Given the description of an element on the screen output the (x, y) to click on. 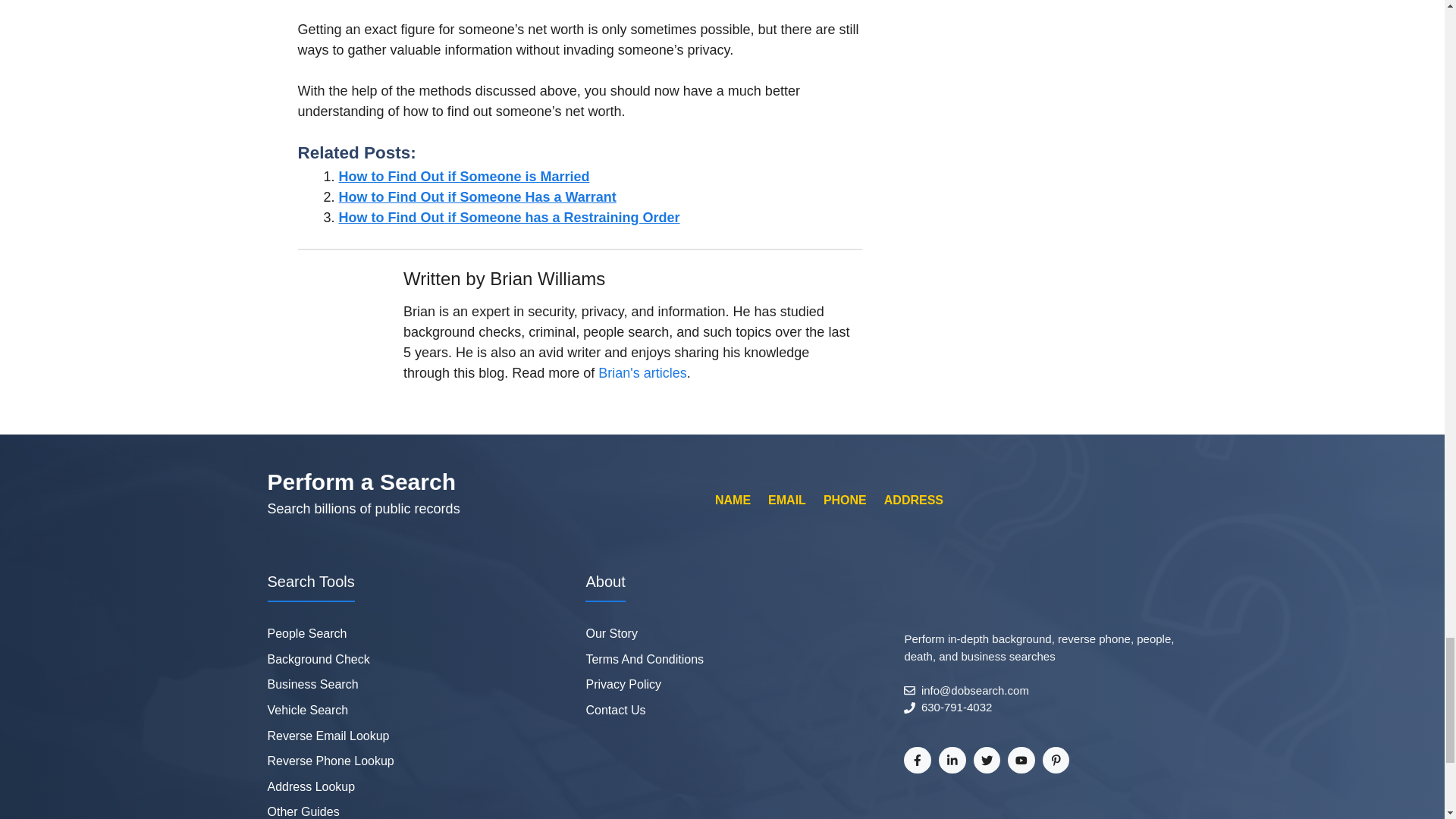
How to Find Out if Someone is Married (463, 176)
How to Find Out if Someone has a Restraining Order (508, 217)
How to Find Out if Someone Has a Warrant (476, 196)
Brian's articles (641, 372)
